Given the description of an element on the screen output the (x, y) to click on. 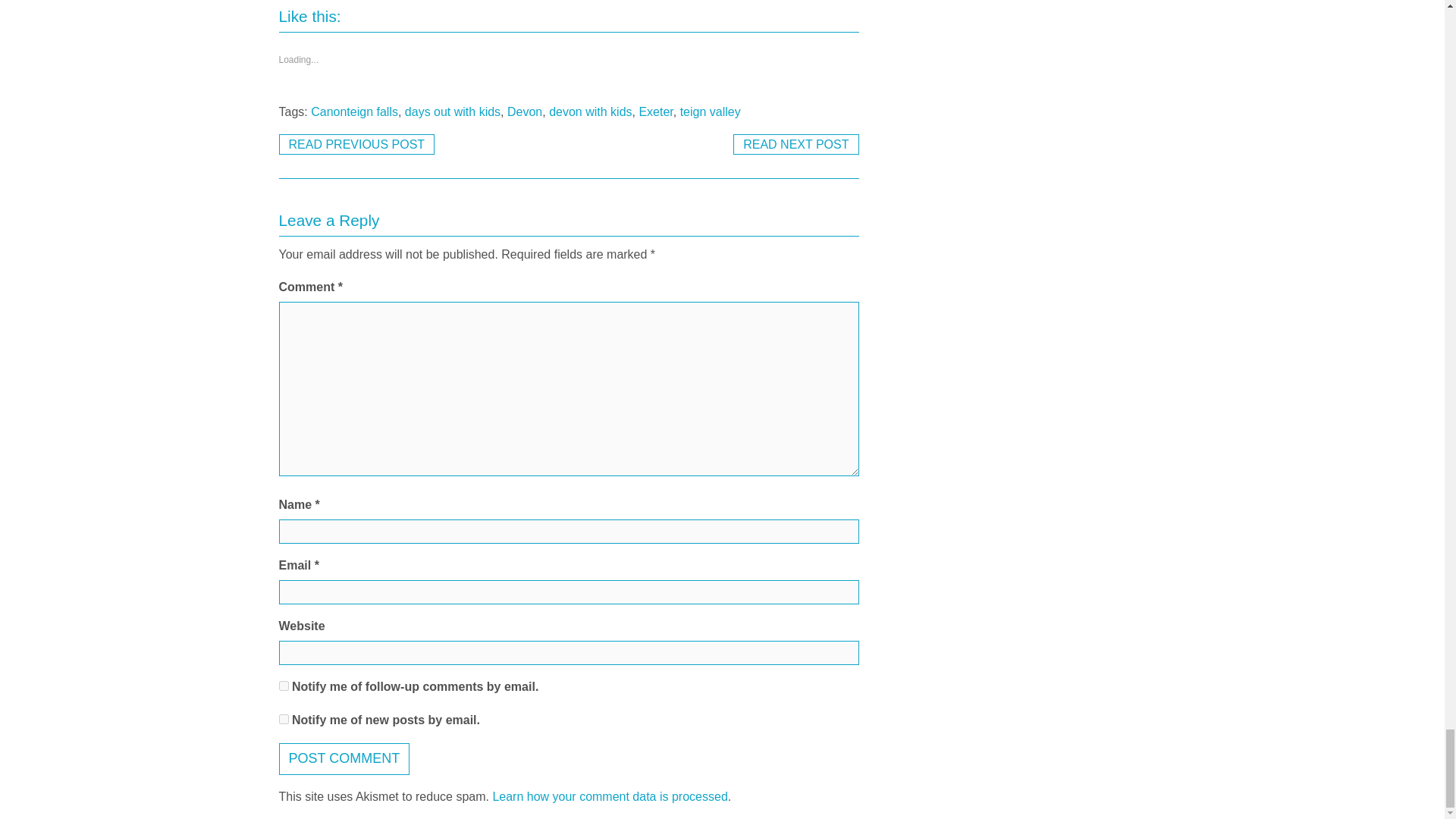
Post Comment (344, 758)
Exeter lockdown doorstep Photography: Rosa and Jake (796, 144)
subscribe (283, 718)
subscribe (283, 685)
